Given the description of an element on the screen output the (x, y) to click on. 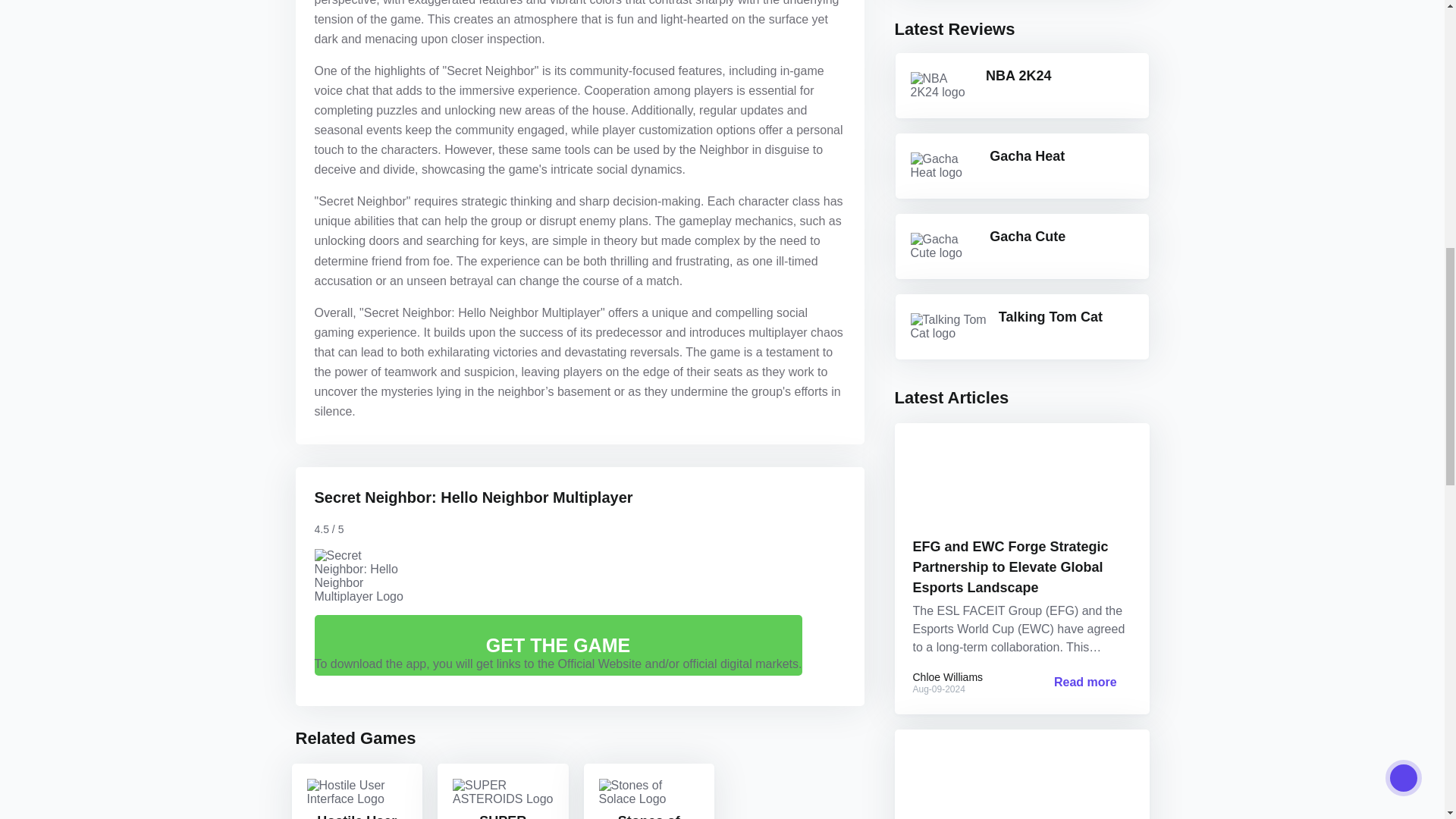
SUPER ASTEROIDS (502, 791)
GET THE GAME (558, 645)
Hostile User Interface (356, 791)
Currency Converted (356, 816)
Stones of Solace (649, 791)
Currency Converted (649, 816)
Hostile User Interface (356, 791)
User rating 4.5 (383, 526)
Currency Converted (502, 816)
Secret Neighbor: Hello Neighbor Multiplayer (472, 497)
